Given the description of an element on the screen output the (x, y) to click on. 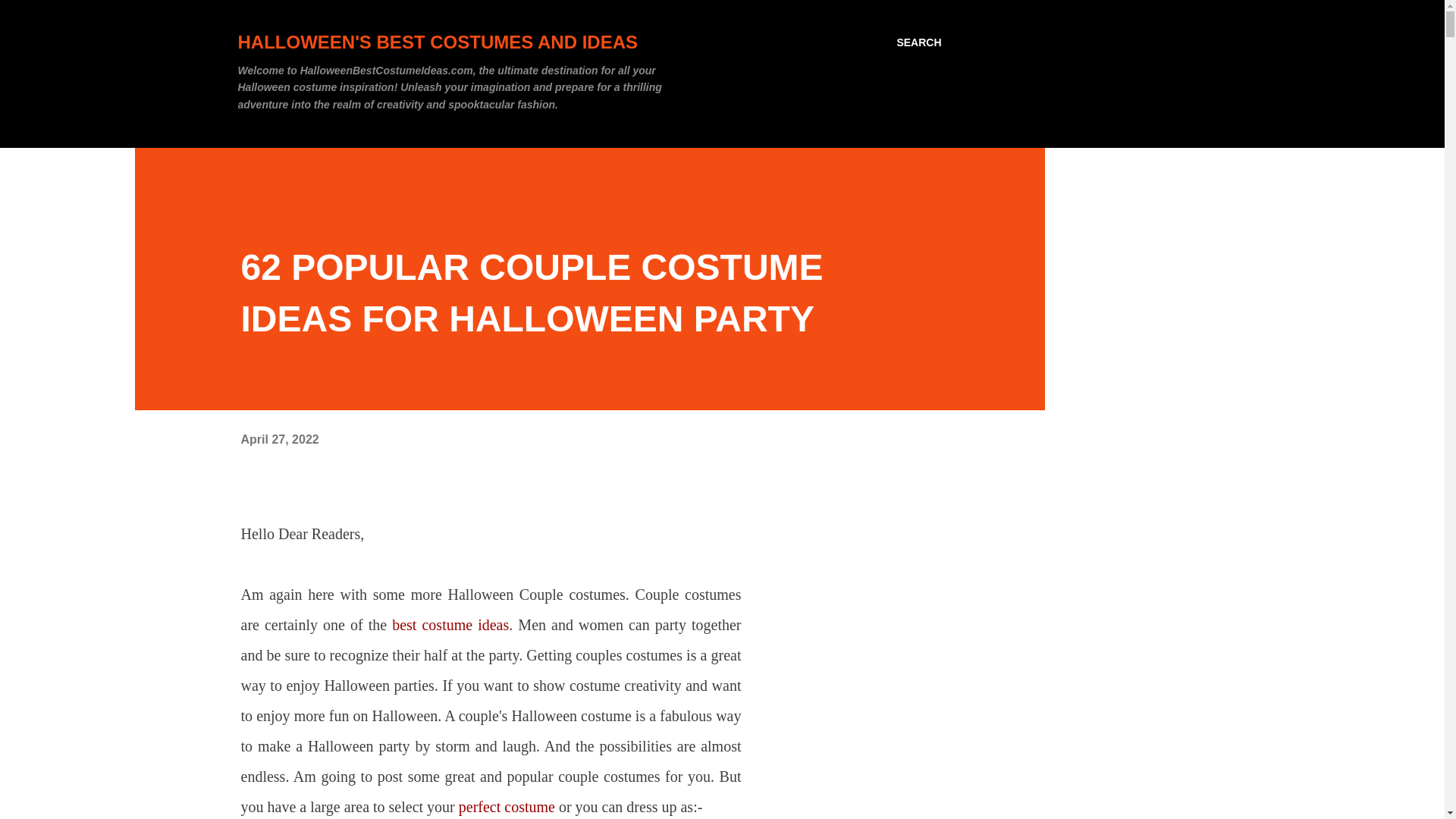
best costume ideas (449, 624)
April 27, 2022 (279, 439)
SEARCH (918, 42)
HALLOWEEN'S BEST COSTUMES AND IDEAS (438, 41)
permanent link (279, 439)
perfect costume (504, 806)
